Given the description of an element on the screen output the (x, y) to click on. 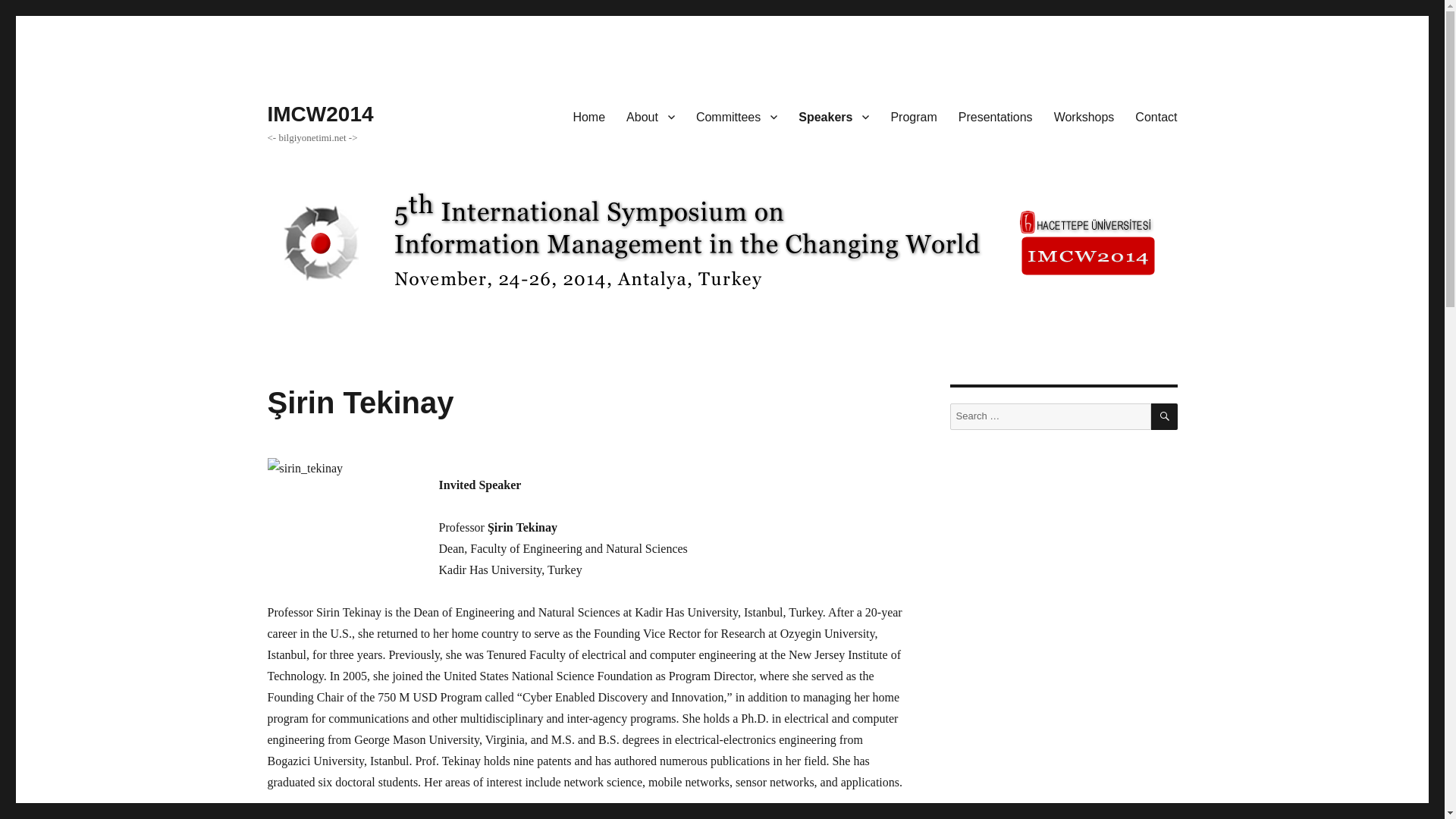
Presentations (995, 116)
SEARCH (1164, 416)
Workshops (1084, 116)
Home (588, 116)
Program (913, 116)
IMCW2014 (319, 114)
Speakers (833, 116)
Contact (1156, 116)
Committees (736, 116)
About (650, 116)
